Given the description of an element on the screen output the (x, y) to click on. 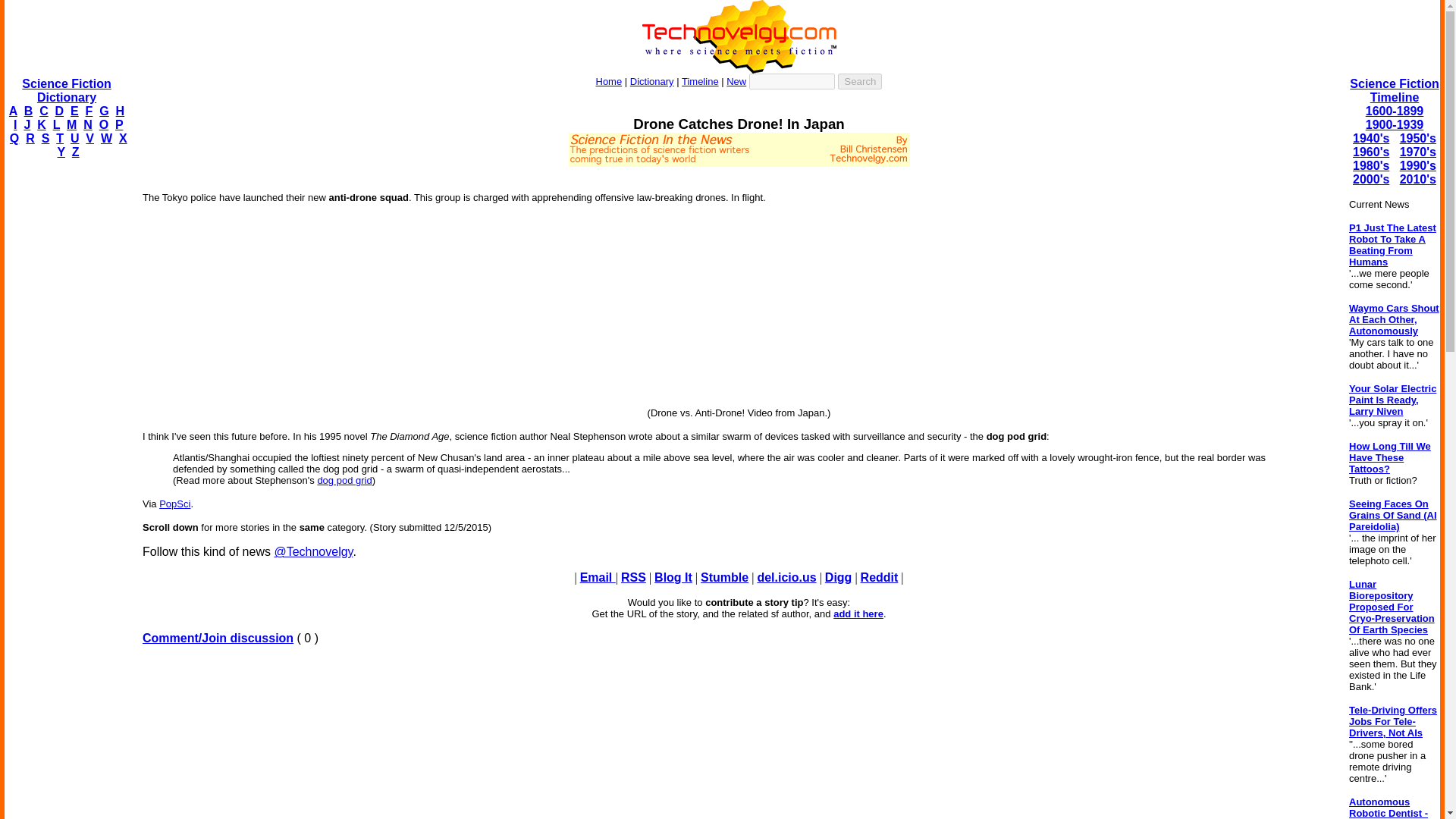
RSS (633, 576)
Advertisement (737, 172)
Stumble (724, 576)
New (735, 81)
Search (860, 81)
PopSci (174, 503)
Home (609, 81)
Science Fiction Dictionary (65, 90)
Search (860, 81)
Advertisement (738, 738)
